Given the description of an element on the screen output the (x, y) to click on. 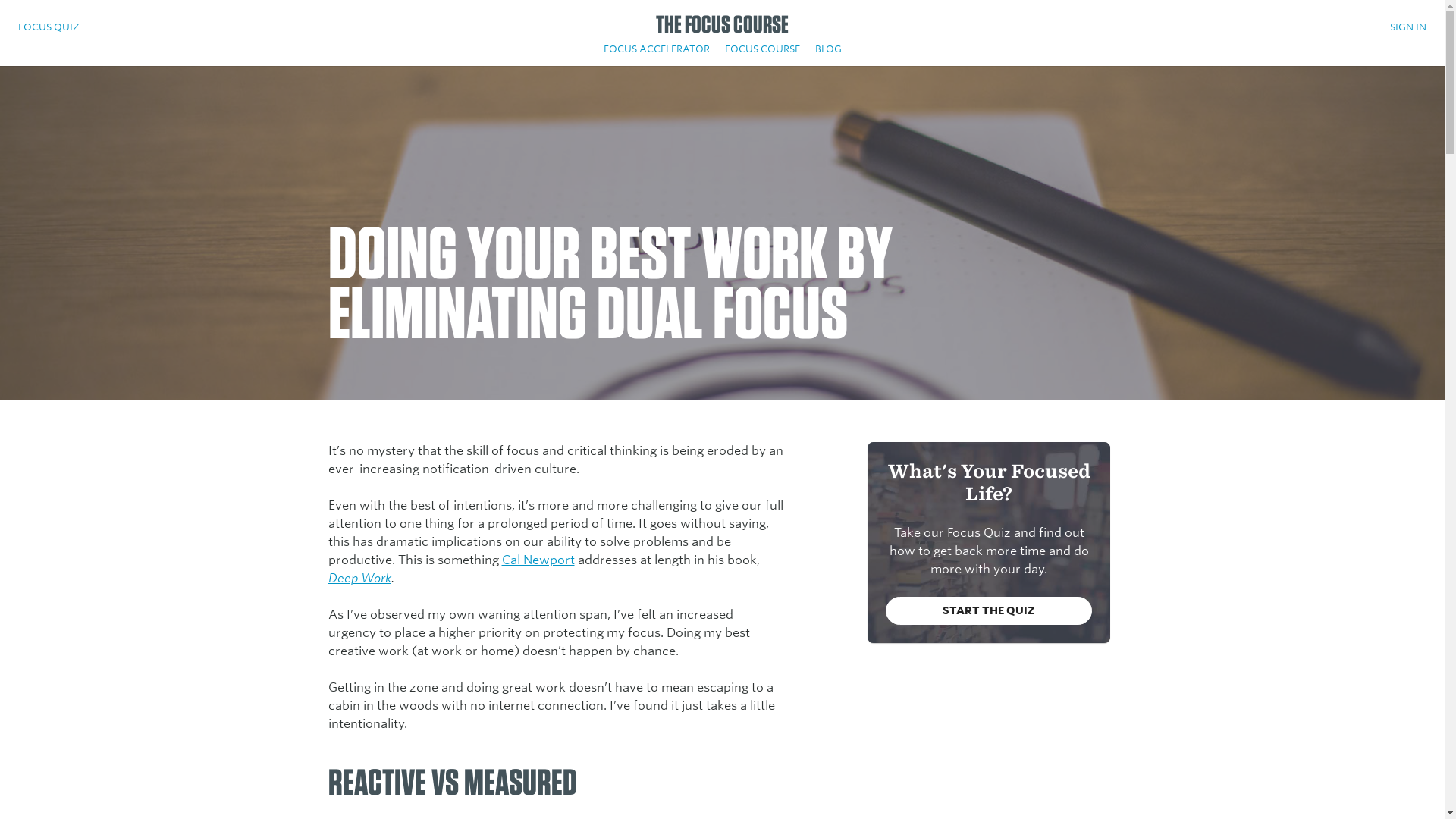
Cal Newport (538, 559)
FOCUS QUIZ (48, 29)
Deep Work (358, 577)
FOCUS ACCELERATOR (656, 51)
THE FOCUS COURSE (722, 28)
START THE QUIZ (988, 610)
BLOG (827, 51)
SIGN IN (1408, 29)
FOCUS COURSE (762, 51)
